Given the description of an element on the screen output the (x, y) to click on. 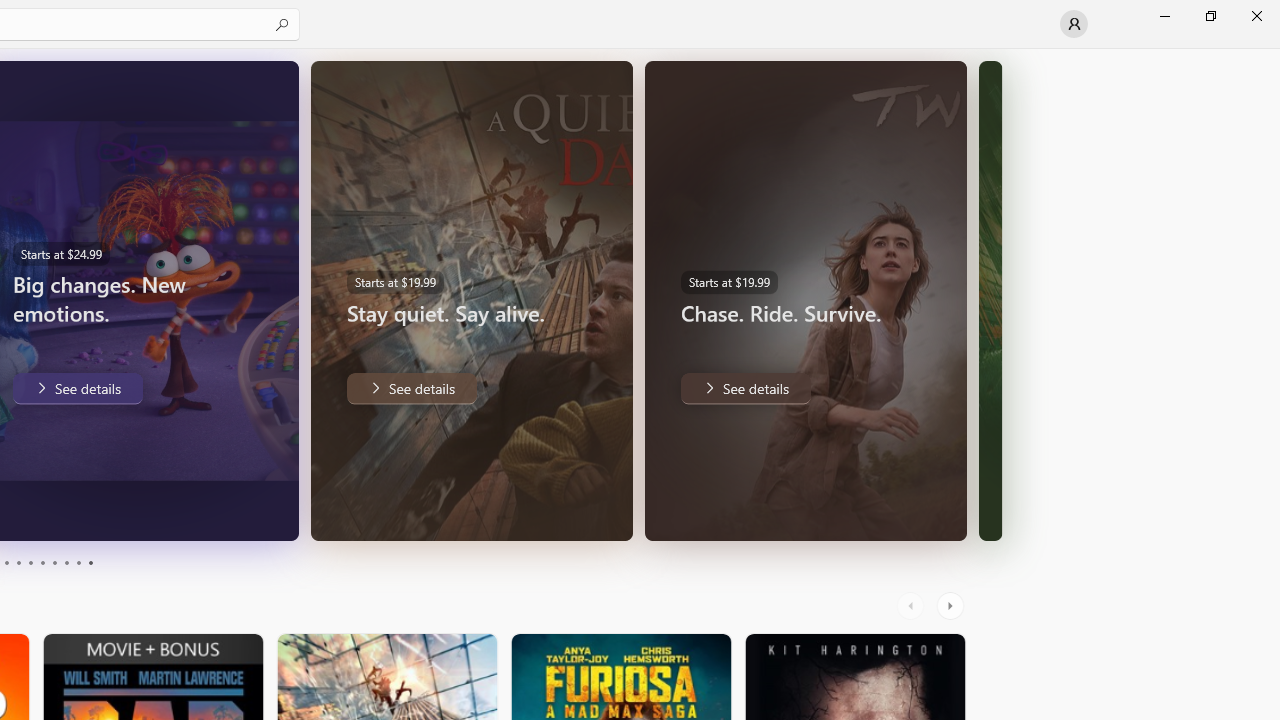
AutomationID: Image (989, 300)
AutomationID: RightScrollButton (952, 606)
Page 9 (77, 562)
Restore Microsoft Store (1210, 15)
Page 6 (41, 562)
Page 8 (65, 562)
Pause Trailer (229, 512)
Unmute (269, 512)
Close Microsoft Store (1256, 15)
Page 7 (54, 562)
Page 5 (29, 562)
Page 4 (17, 562)
Page 10 (90, 562)
